Given the description of an element on the screen output the (x, y) to click on. 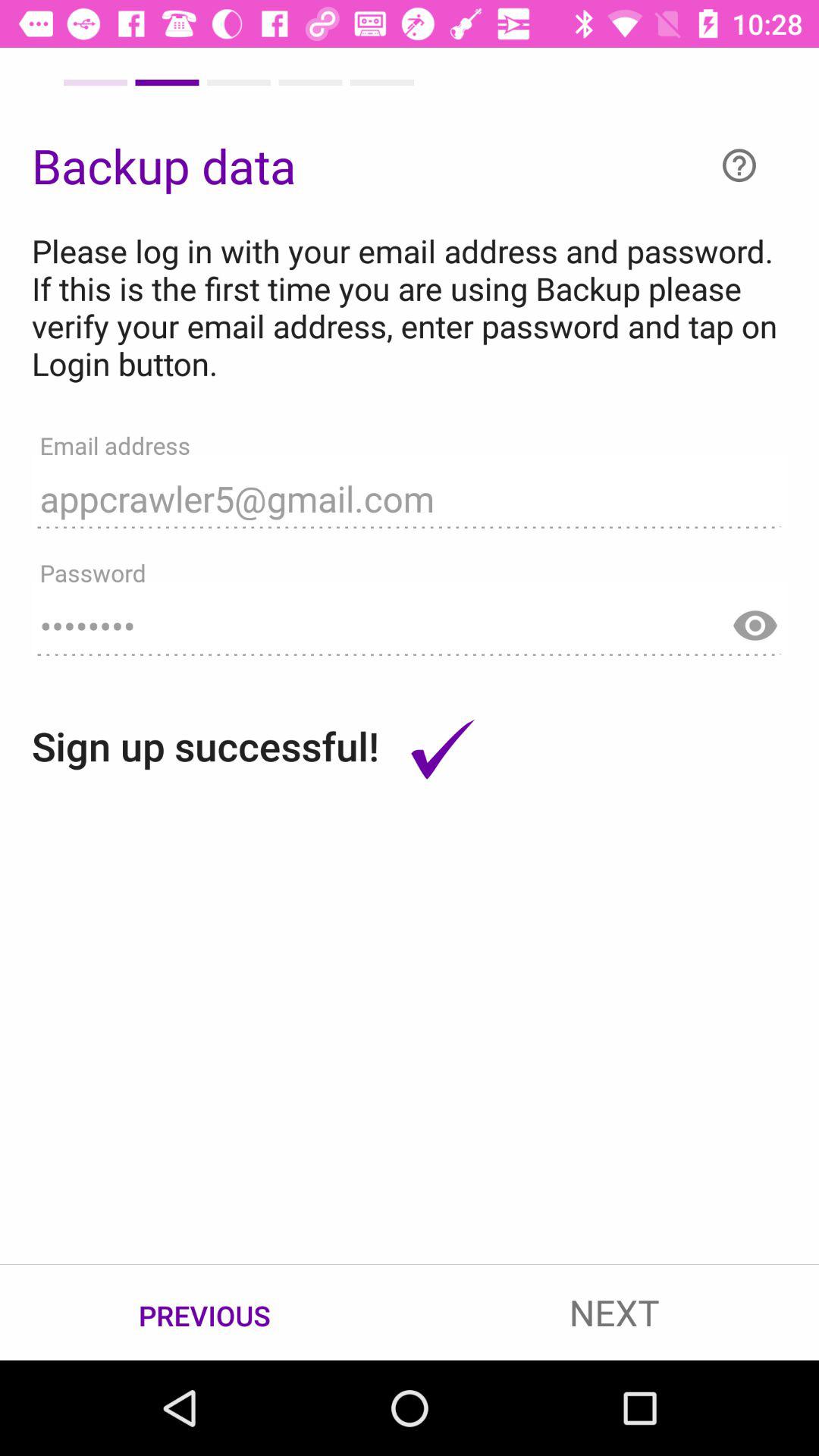
turn on item above the please log in (739, 165)
